Given the description of an element on the screen output the (x, y) to click on. 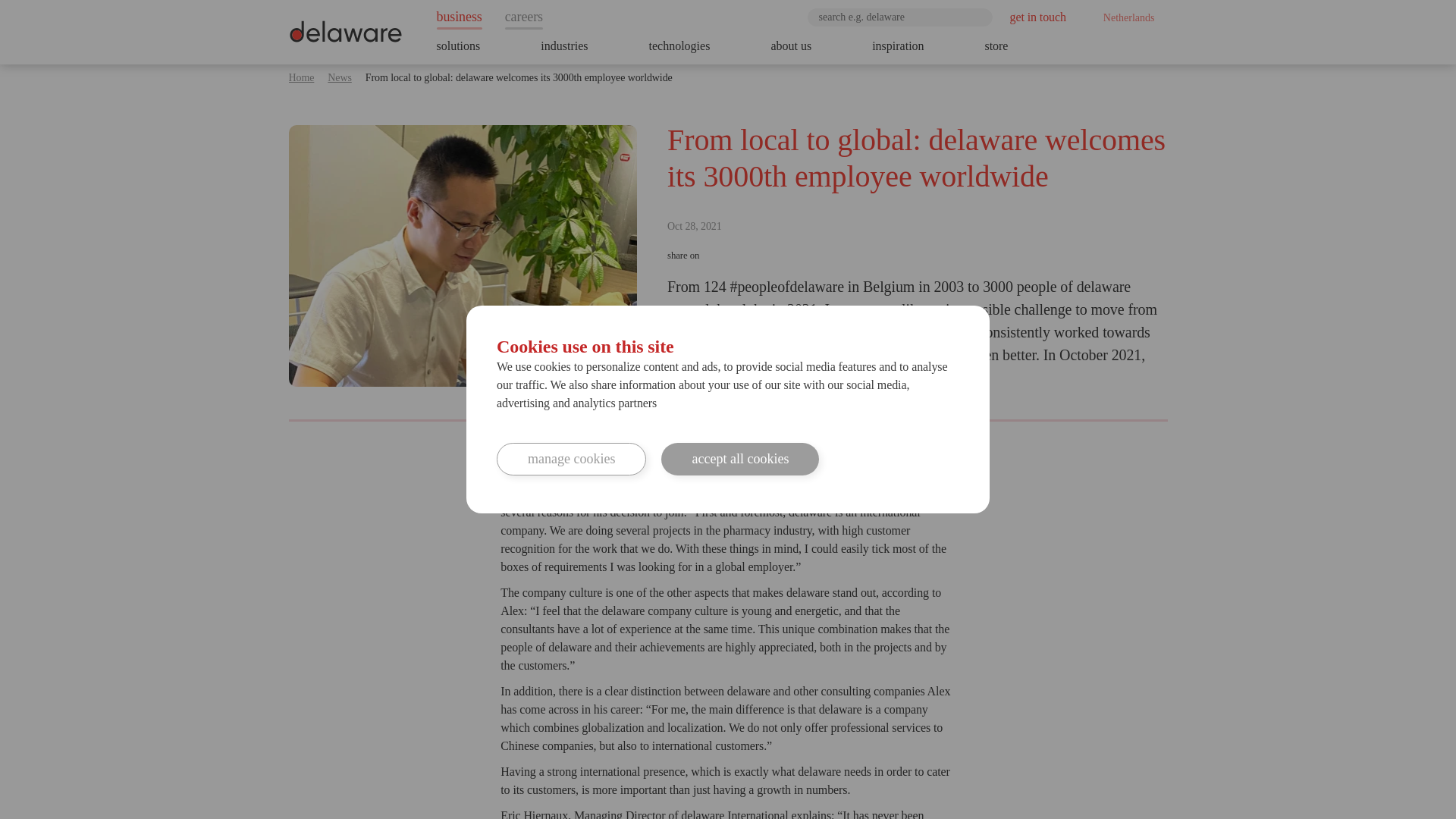
Netherlands (1124, 17)
get in touch (1037, 16)
